Given the description of an element on the screen output the (x, y) to click on. 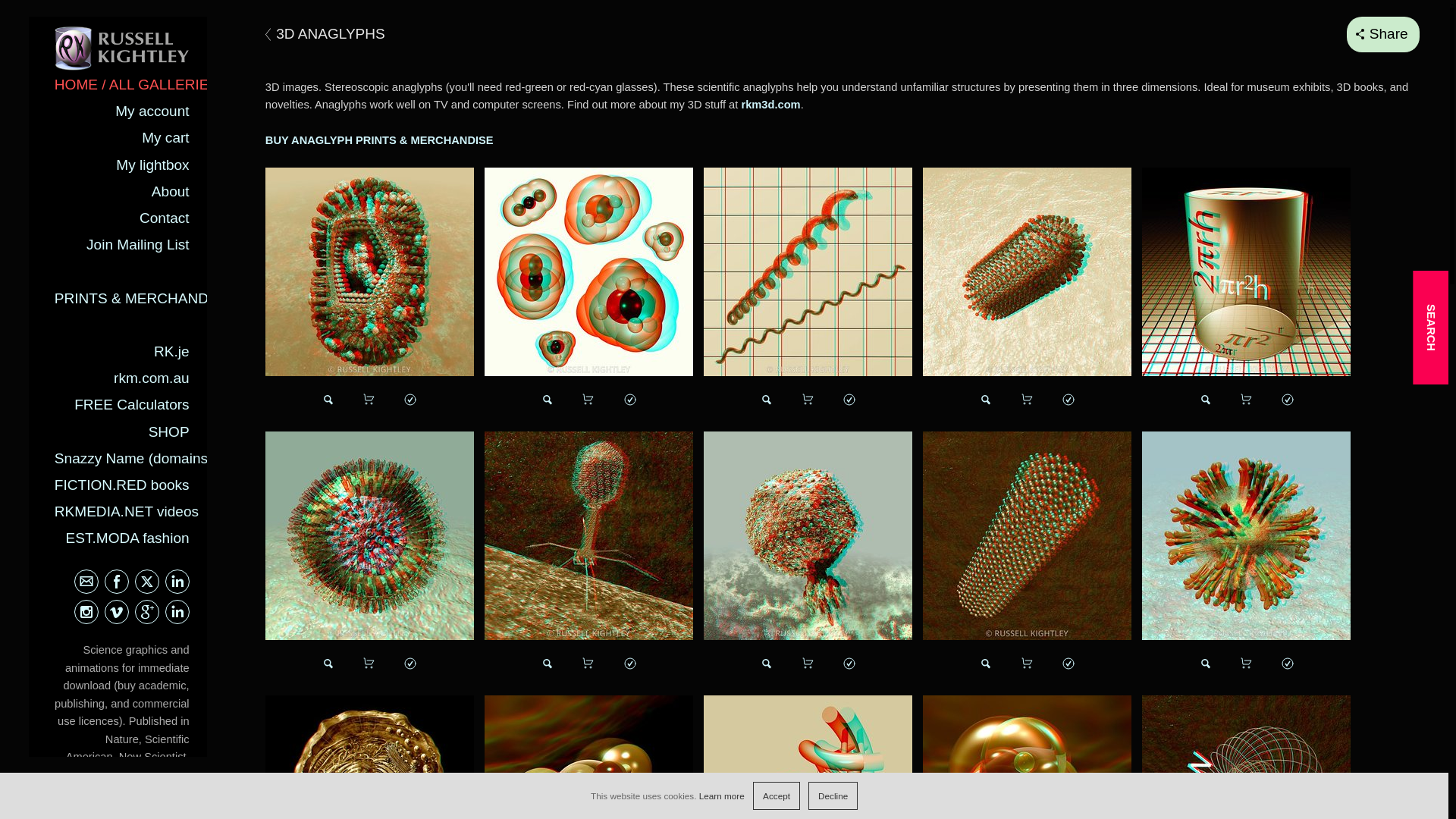
My lightbox (152, 164)
Share (1382, 34)
EST.MODA fashion (127, 537)
My cart (165, 137)
rkm.com.au (151, 377)
RK.je (171, 351)
My account (152, 110)
FREE Calculators (131, 404)
Join Mailing List (137, 244)
RKMEDIA.NET videos (126, 511)
